Given the description of an element on the screen output the (x, y) to click on. 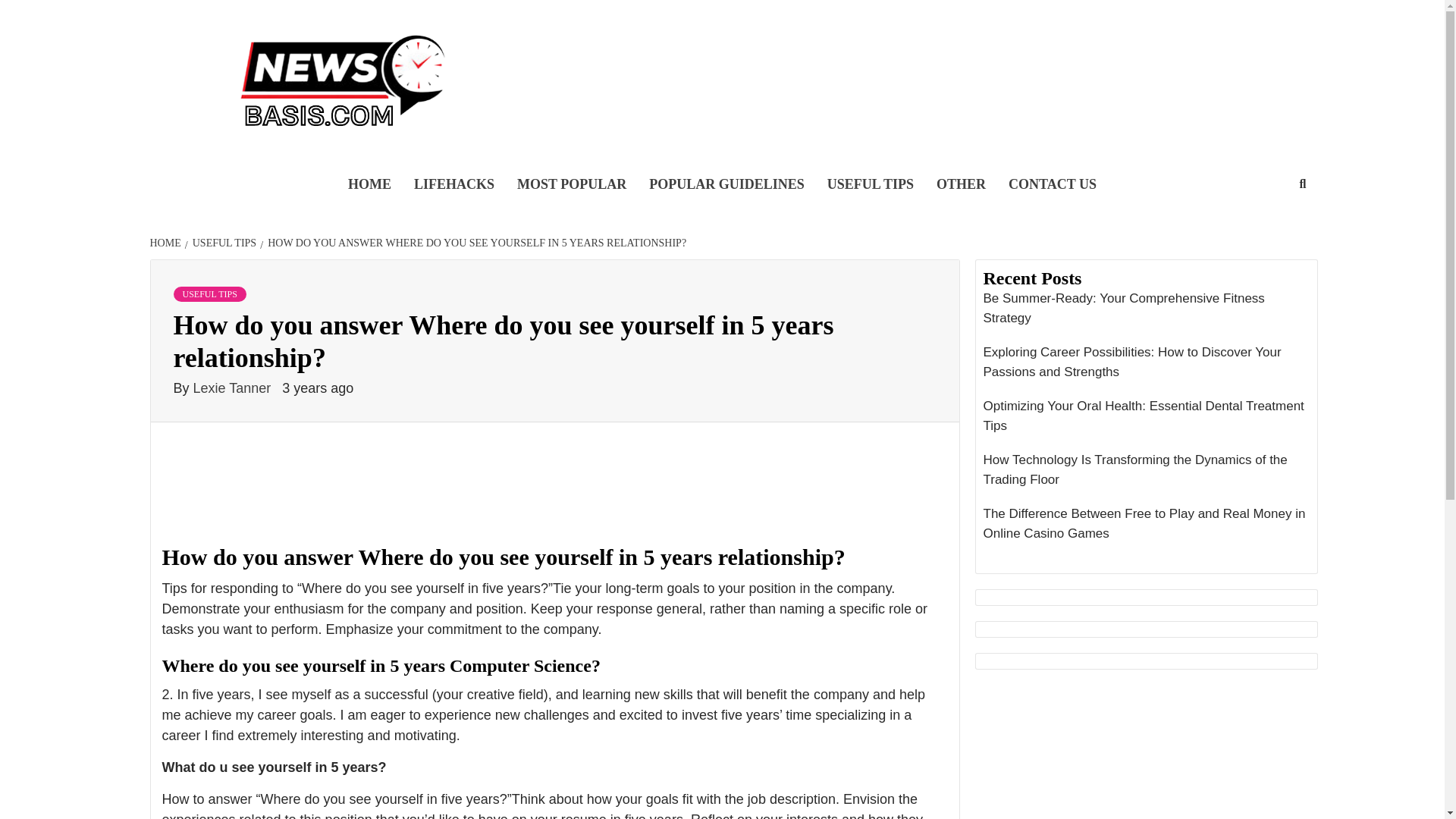
LIFEHACKS (454, 184)
MOST POPULAR (571, 184)
Lexie Tanner (234, 387)
OTHER (960, 184)
Be Summer-Ready: Your Comprehensive Fitness Strategy (1145, 311)
HOME (369, 184)
CONTACT US (1052, 184)
Optimizing Your Oral Health: Essential Dental Treatment Tips (1145, 419)
